Given the description of an element on the screen output the (x, y) to click on. 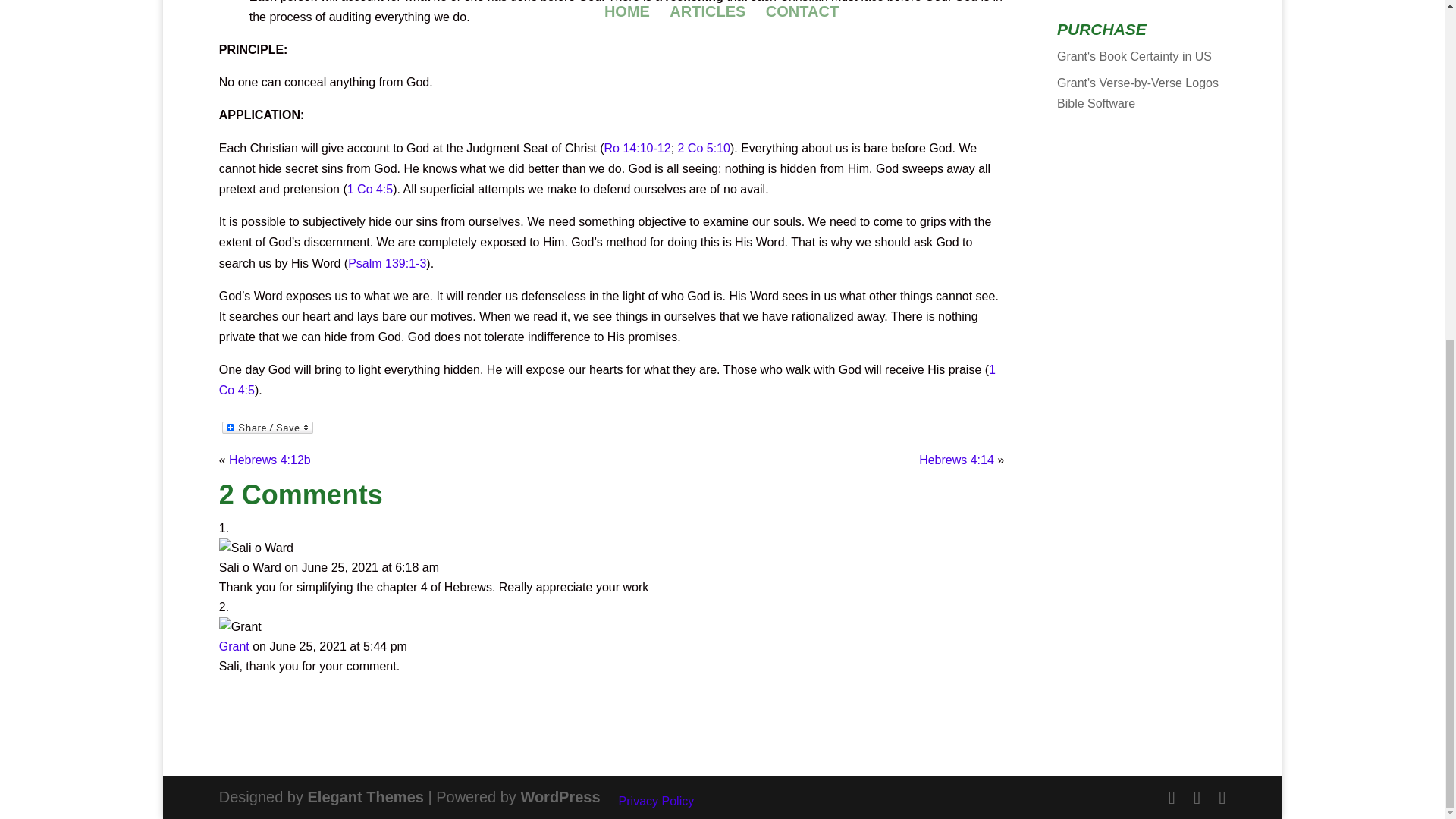
Ro 14:10-12 (637, 147)
Premium WordPress Themes (365, 796)
Privacy Policy (656, 800)
2 Co 5:10 (704, 147)
WordPress (559, 796)
Hebrews 4:14 (956, 459)
1 Co 4:5 (607, 379)
Psalm 139:1-3 (386, 262)
Elegant Themes (365, 796)
Privacy Policy (656, 800)
